Given the description of an element on the screen output the (x, y) to click on. 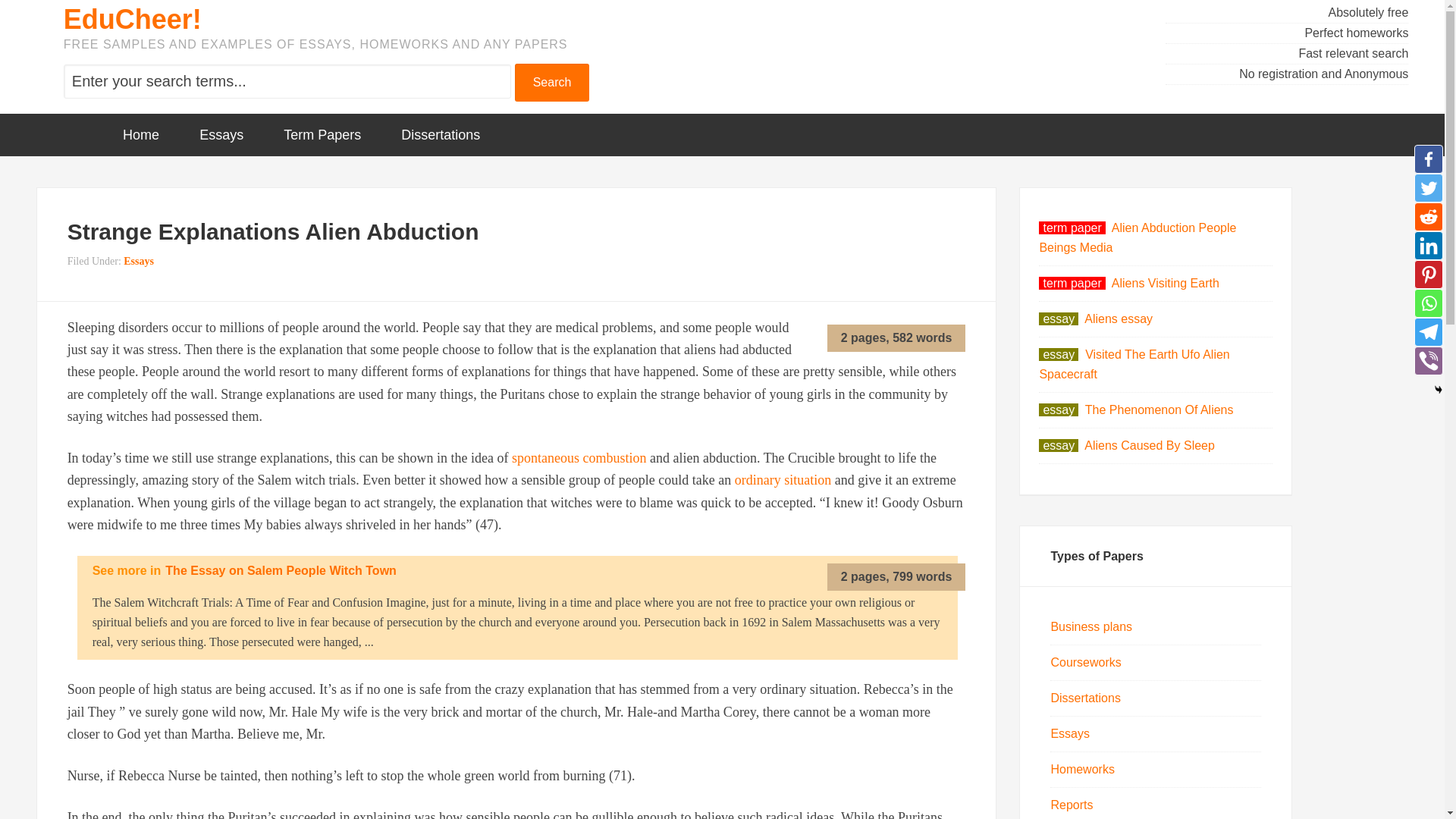
Linkedin (1427, 245)
Whatsapp (1427, 303)
Pinterest (1427, 274)
The Essay on Spontaneous Human Combustion Fatal Cases (579, 458)
Search (552, 82)
Dissertations (439, 134)
spontaneous combustion (579, 458)
essay  Aliens Caused By Sleep (1126, 445)
Telegram (1427, 331)
